Given the description of an element on the screen output the (x, y) to click on. 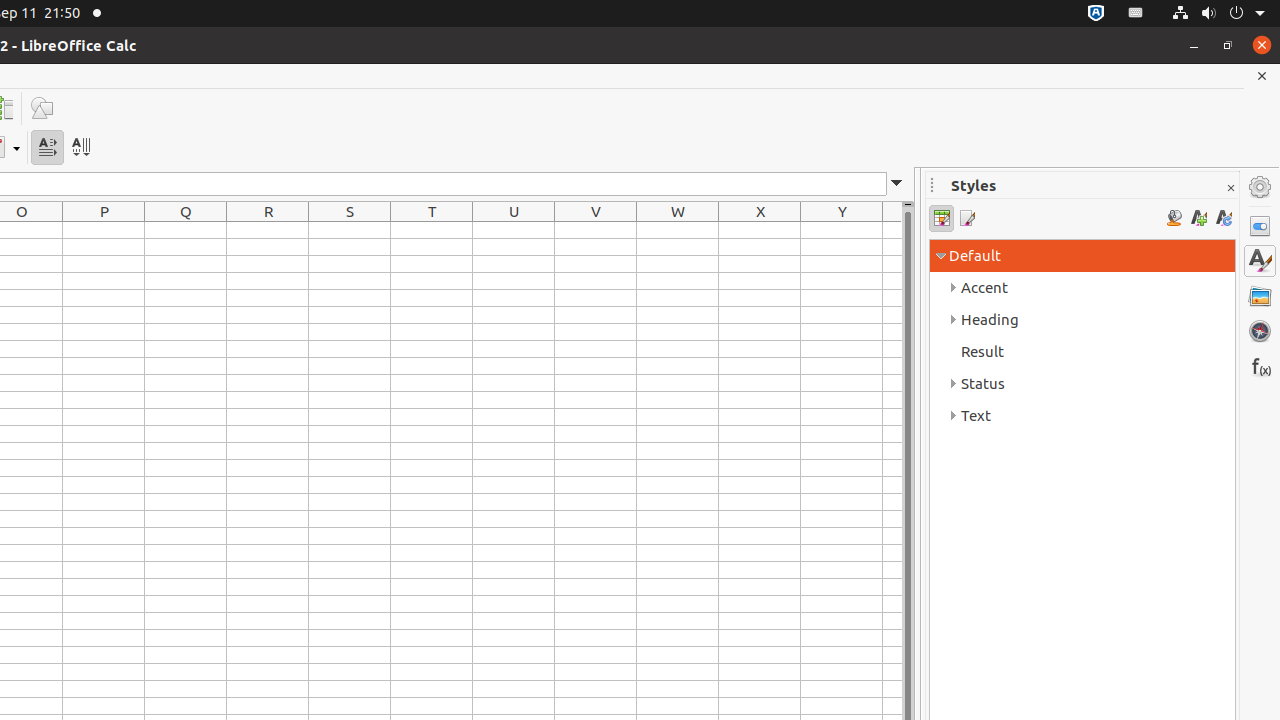
Z1 Element type: table-cell (892, 230)
Update Style Element type: push-button (1223, 218)
Cell Styles Element type: push-button (941, 218)
Fill Format Mode Element type: push-button (1173, 218)
